Given the description of an element on the screen output the (x, y) to click on. 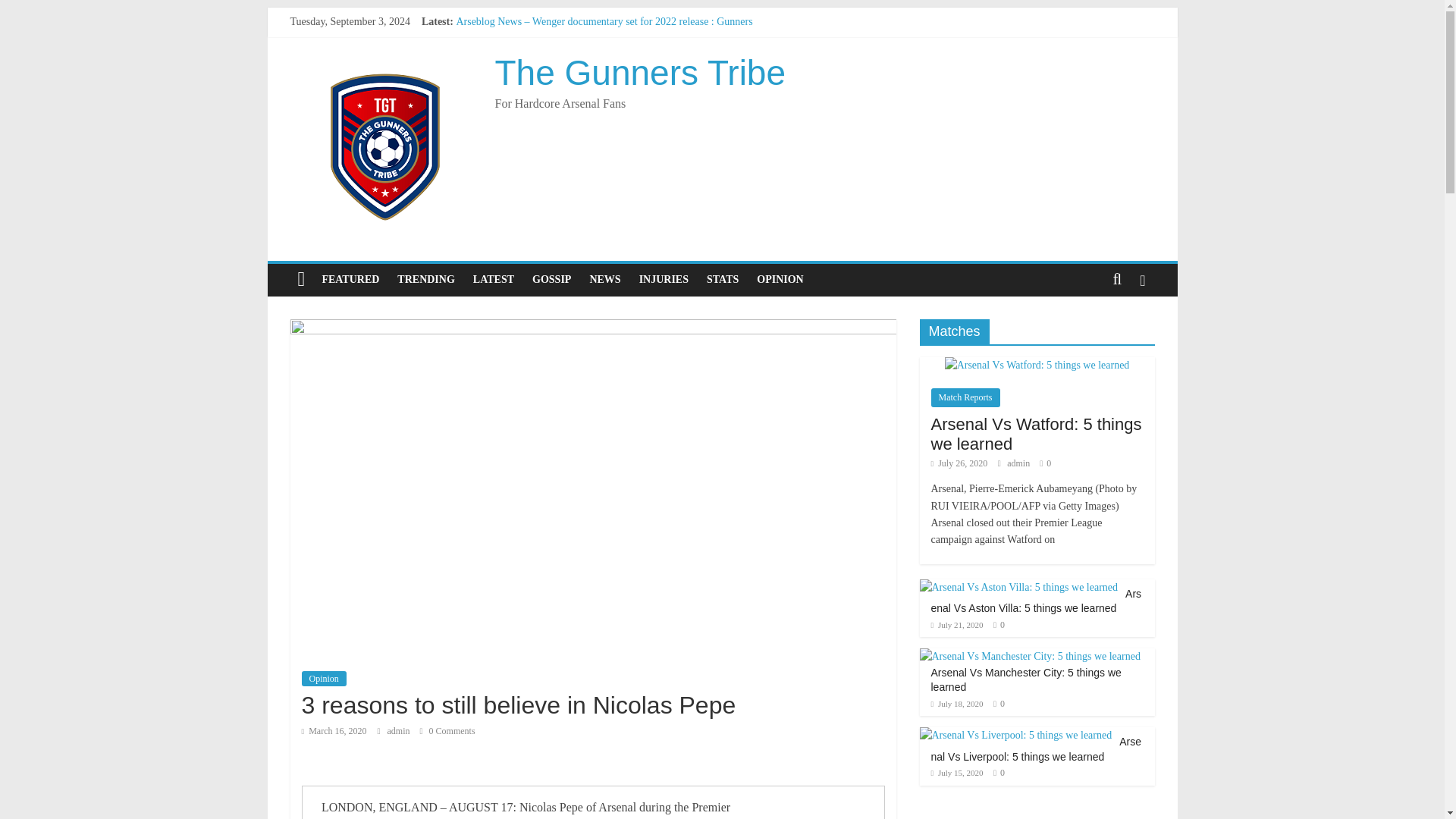
Opinion (323, 678)
LATEST (493, 279)
GOSSIP (550, 279)
NEWS (603, 279)
admin (399, 730)
The Gunners Tribe (640, 72)
FEATURED (350, 279)
STATS (722, 279)
OPINION (780, 279)
